Given the description of an element on the screen output the (x, y) to click on. 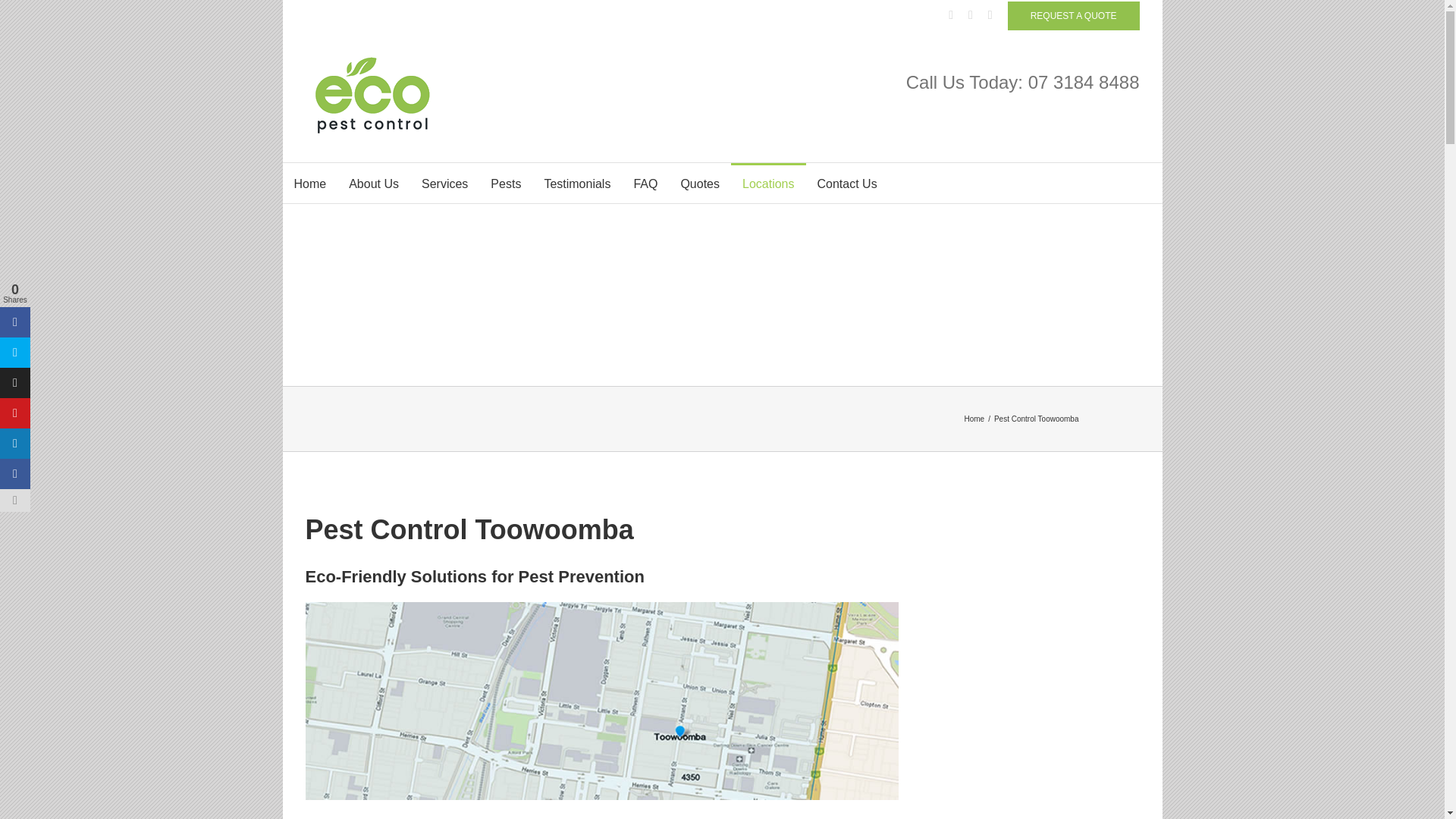
FAQ (644, 182)
Locations (768, 182)
Home (309, 182)
About Us (373, 182)
Services (444, 182)
About Eco Pest Control Brisbane (373, 182)
Quotes (699, 182)
Testimonials (576, 182)
Pests (505, 182)
REQUEST A QUOTE (1073, 15)
